Given the description of an element on the screen output the (x, y) to click on. 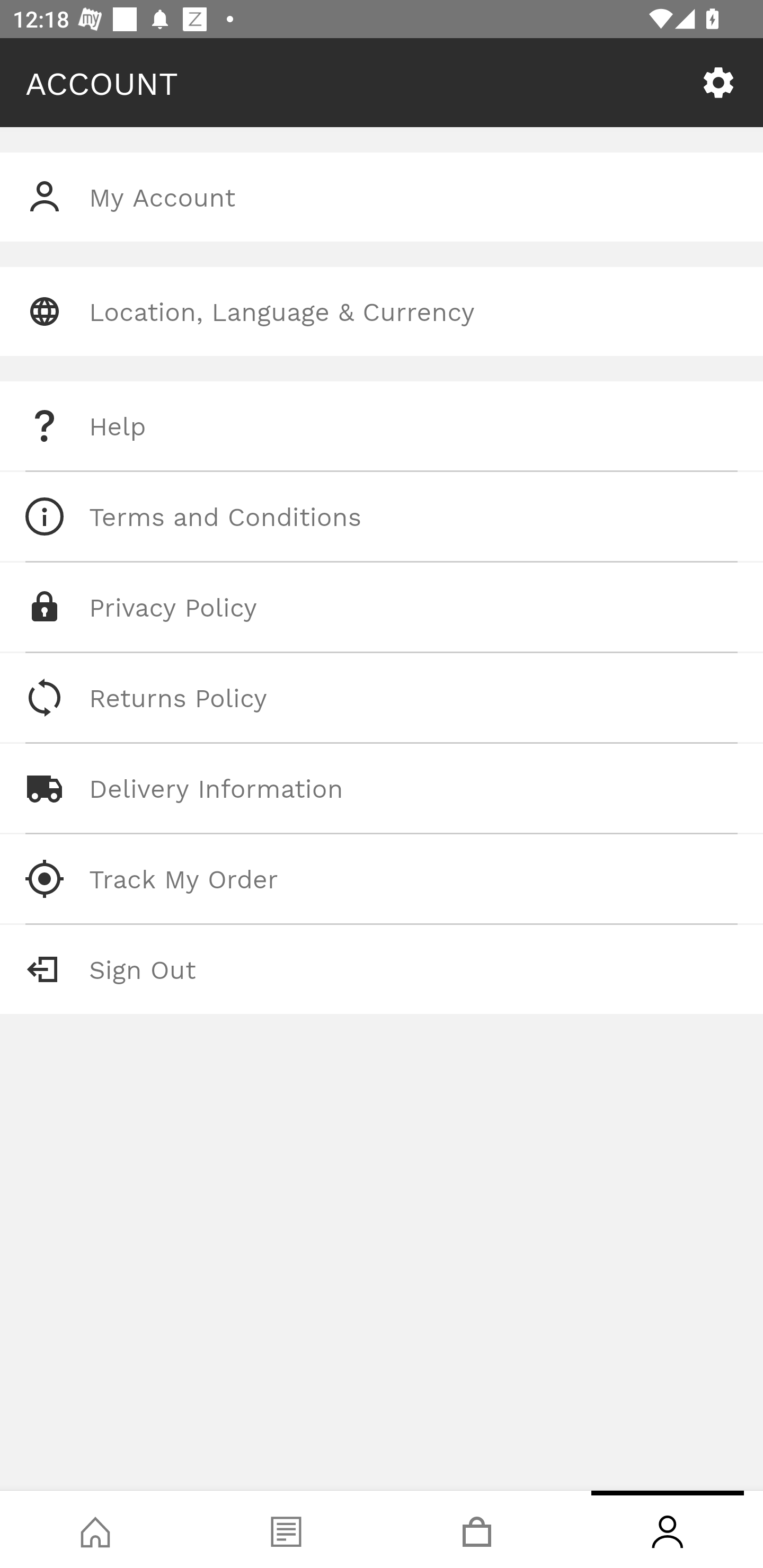
SETTINGS (718, 82)
My Account (381, 196)
Location, Language & Currency (381, 310)
Help (381, 425)
Terms and Conditions (381, 516)
Privacy Policy (381, 607)
Returns Policy (381, 697)
Delivery Information (381, 787)
Track My Order (381, 878)
Sign Out (381, 969)
Shop, tab, 1 of 4 (95, 1529)
Blog, tab, 2 of 4 (285, 1529)
Basket, tab, 3 of 4 (476, 1529)
Account, tab, 4 of 4 (667, 1529)
